Given the description of an element on the screen output the (x, y) to click on. 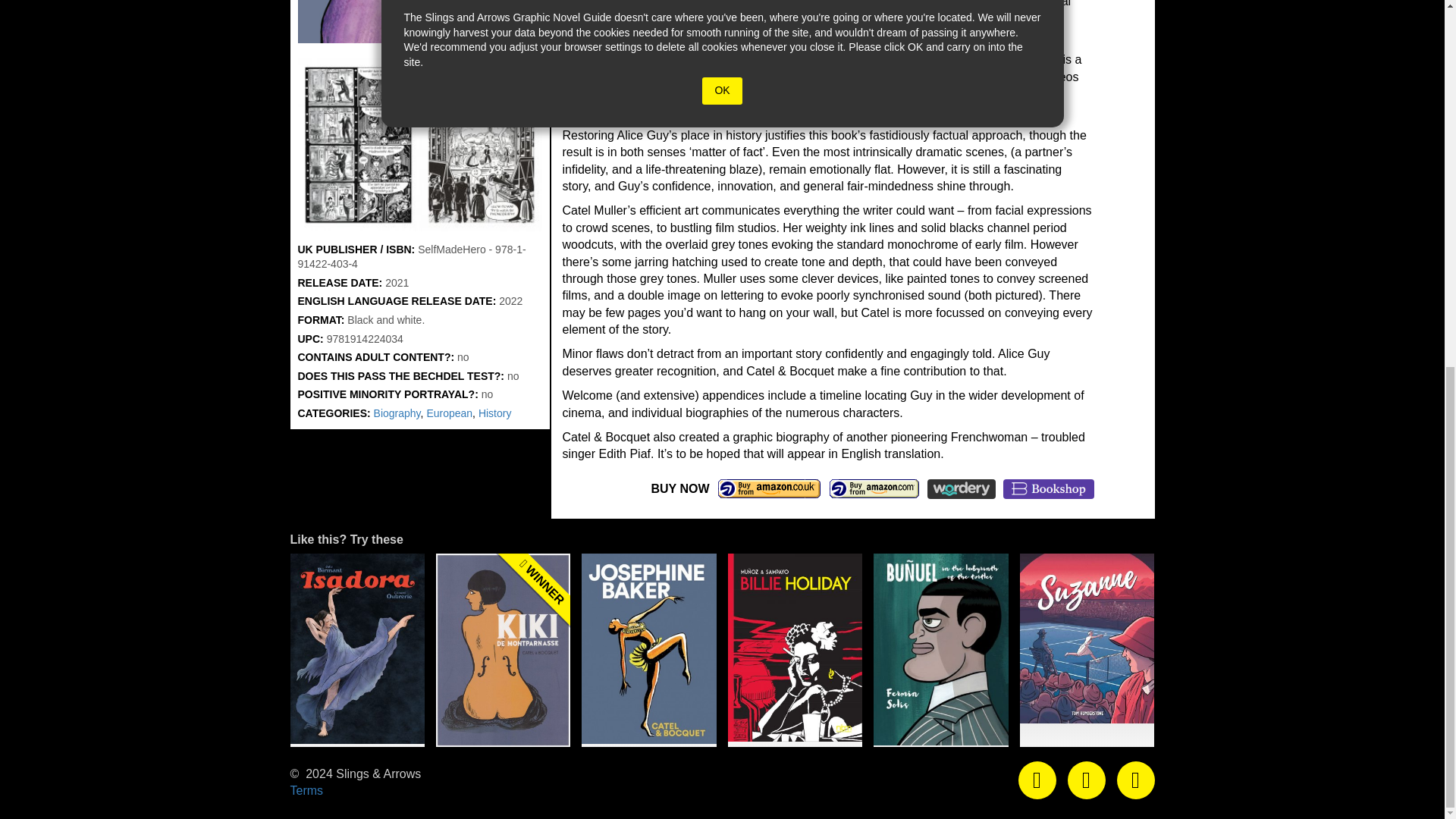
European (448, 413)
OK (721, 90)
SAMPLE IMAGE  (419, 144)
Biography (397, 413)
History (495, 413)
